Given the description of an element on the screen output the (x, y) to click on. 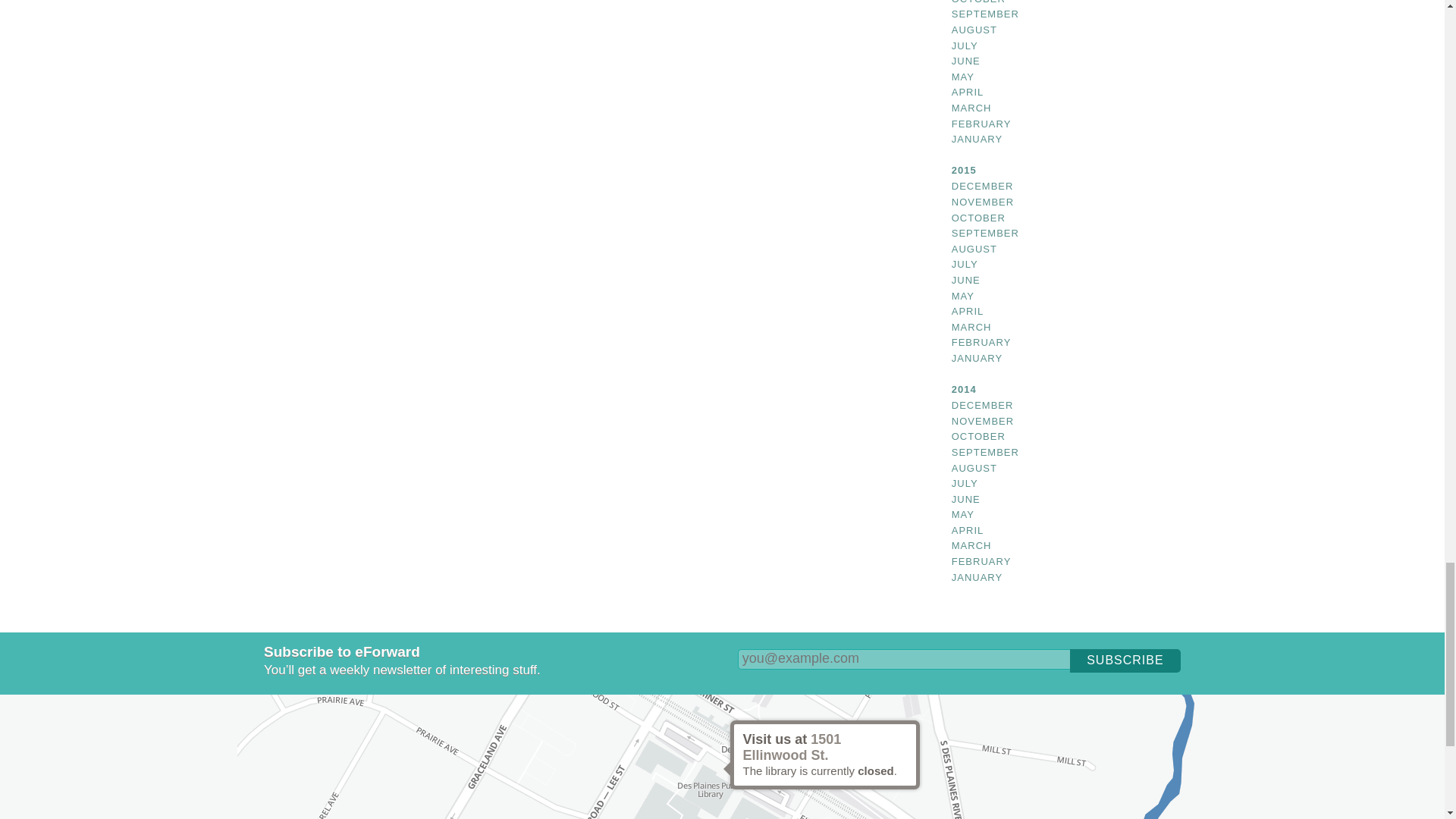
Subscribe (1125, 660)
